Given the description of an element on the screen output the (x, y) to click on. 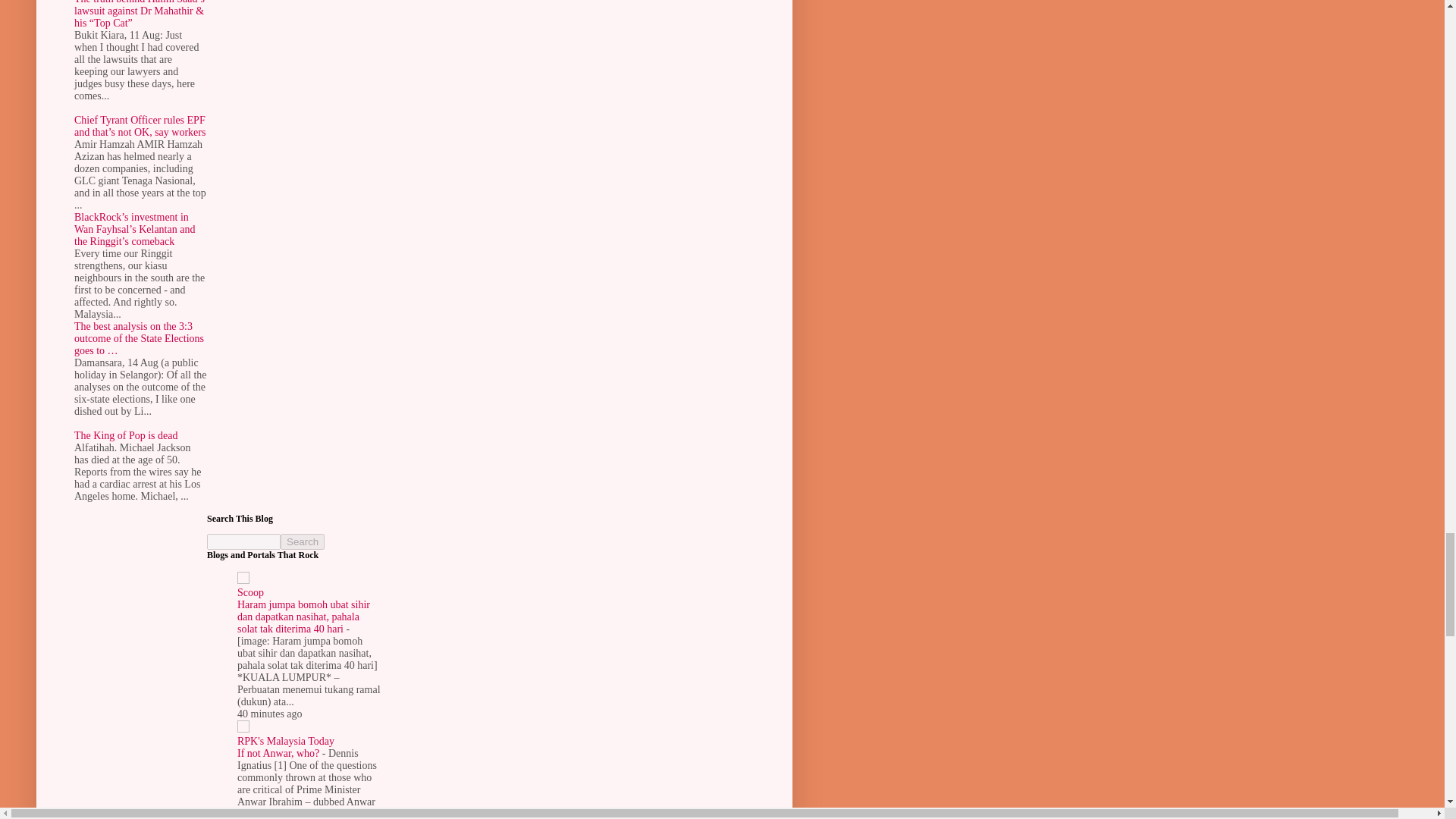
search (243, 541)
Search (302, 541)
Search (302, 541)
search (302, 541)
